Given the description of an element on the screen output the (x, y) to click on. 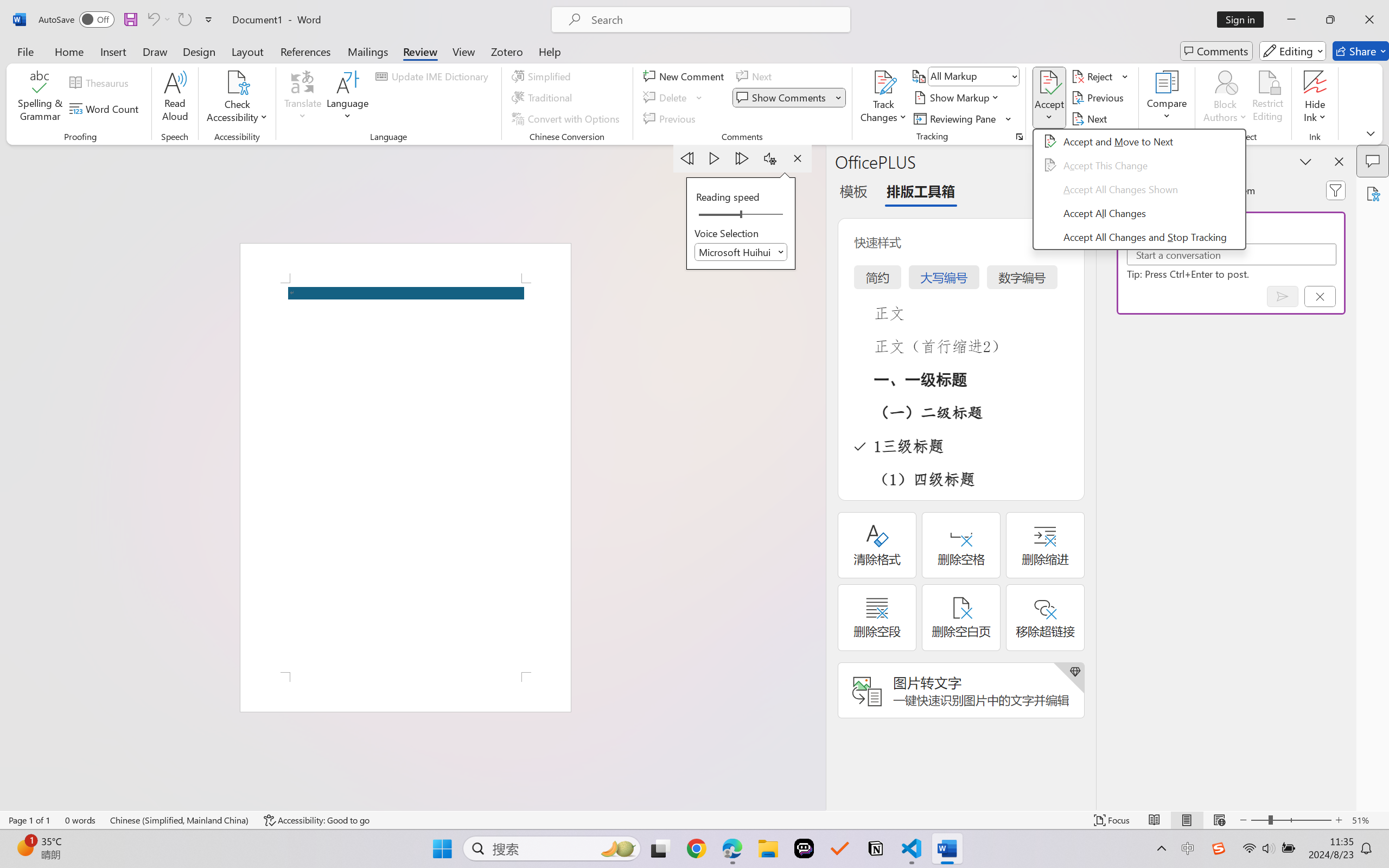
Compare (1166, 97)
Thesaurus... (101, 82)
Page right (765, 214)
Check Accessibility (237, 81)
Previous Paragraph (687, 158)
Block Authors (1224, 81)
Undo Apply Quick Style Set (158, 19)
